Given the description of an element on the screen output the (x, y) to click on. 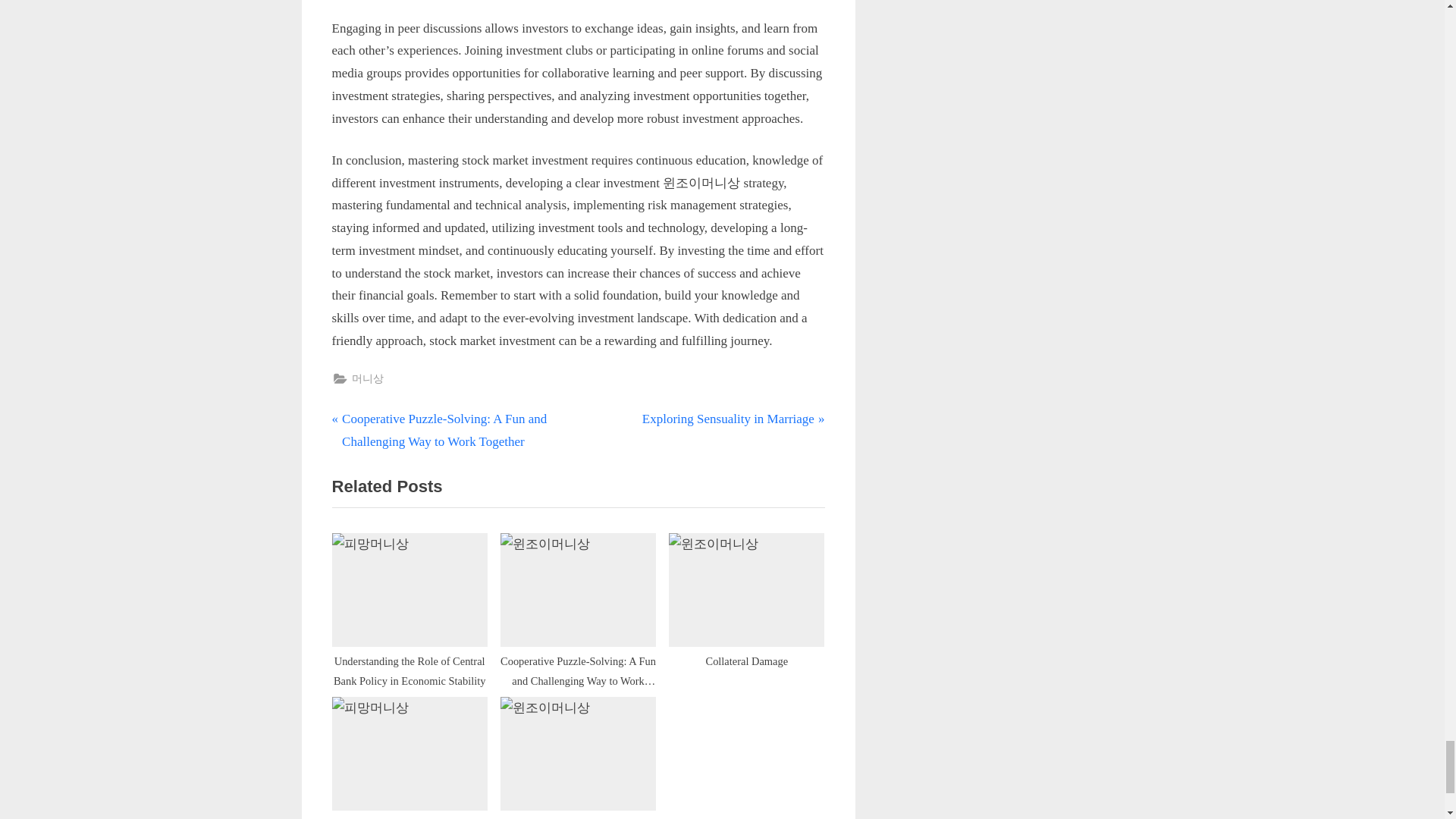
The Importance of Game Credits (578, 757)
Collateral Damage (746, 605)
